Given the description of an element on the screen output the (x, y) to click on. 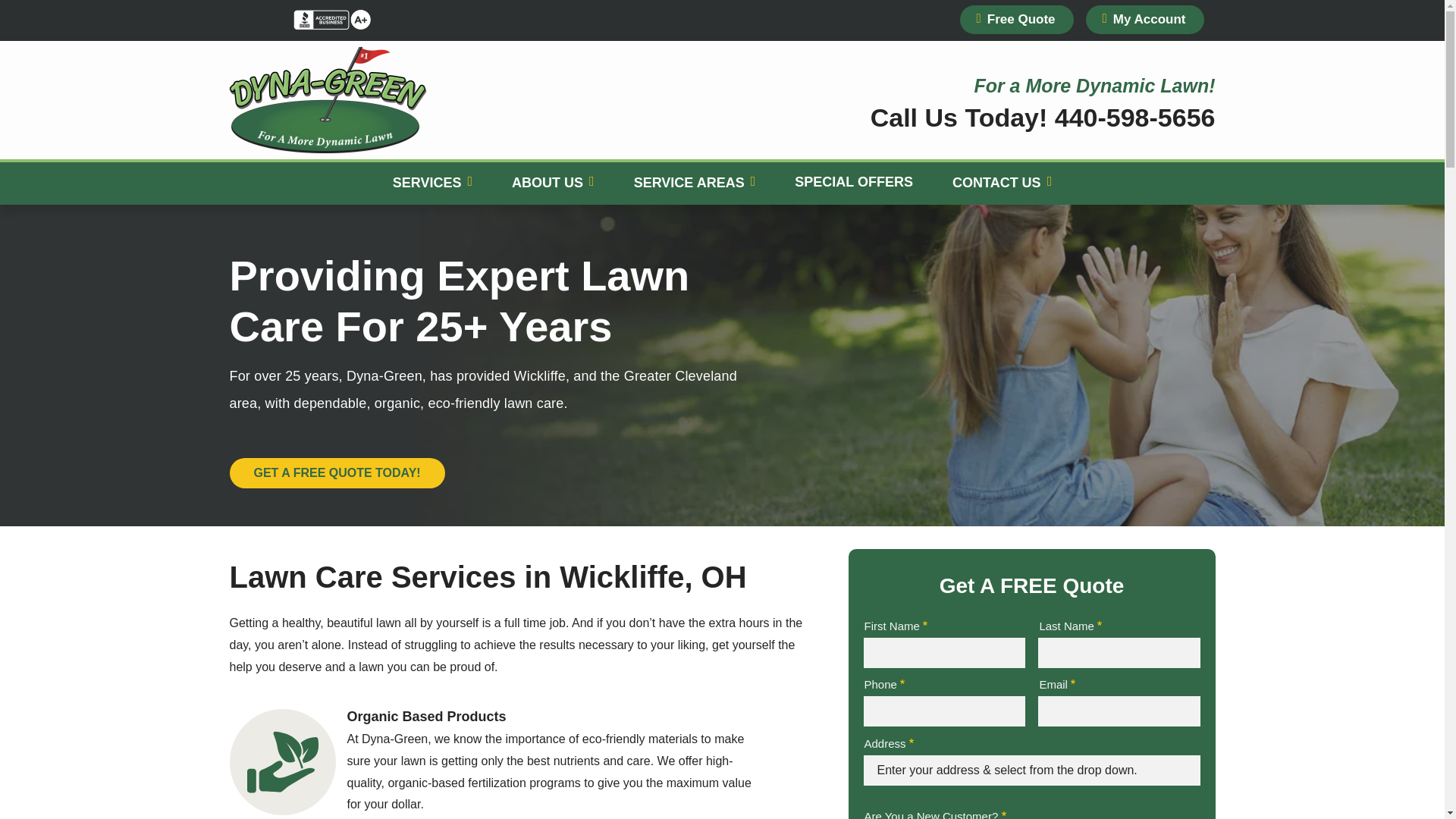
ABOUT US (552, 183)
Free Quote (1016, 19)
Call Us Today! 440-598-5656 (1042, 117)
SERVICE AREAS (694, 183)
SERVICES (432, 183)
My Account (1145, 19)
My Account (1145, 19)
Free Quote (1016, 19)
Image (308, 19)
